Given the description of an element on the screen output the (x, y) to click on. 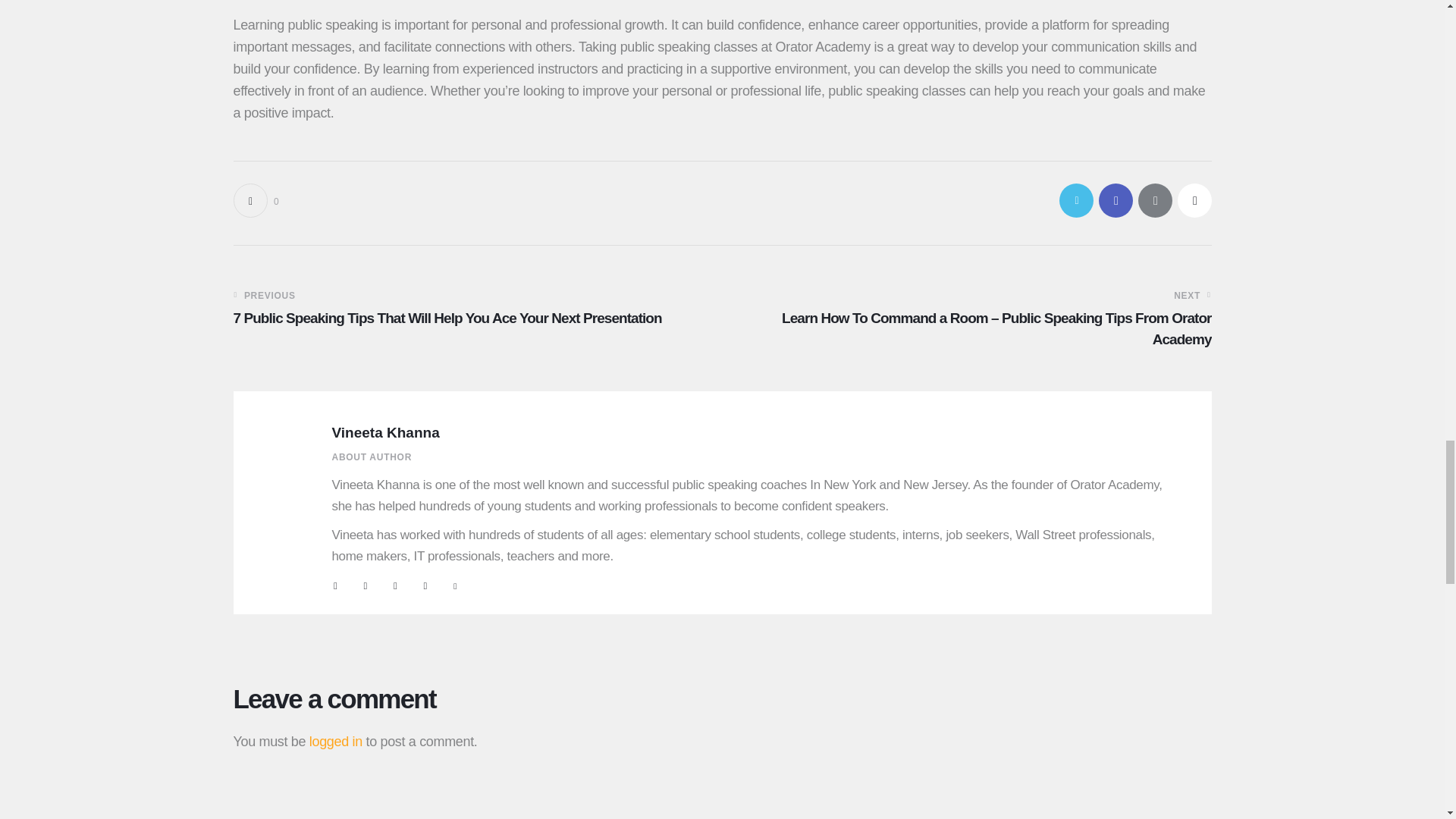
Like (255, 200)
Copy URL to clipboard (1193, 200)
